Given the description of an element on the screen output the (x, y) to click on. 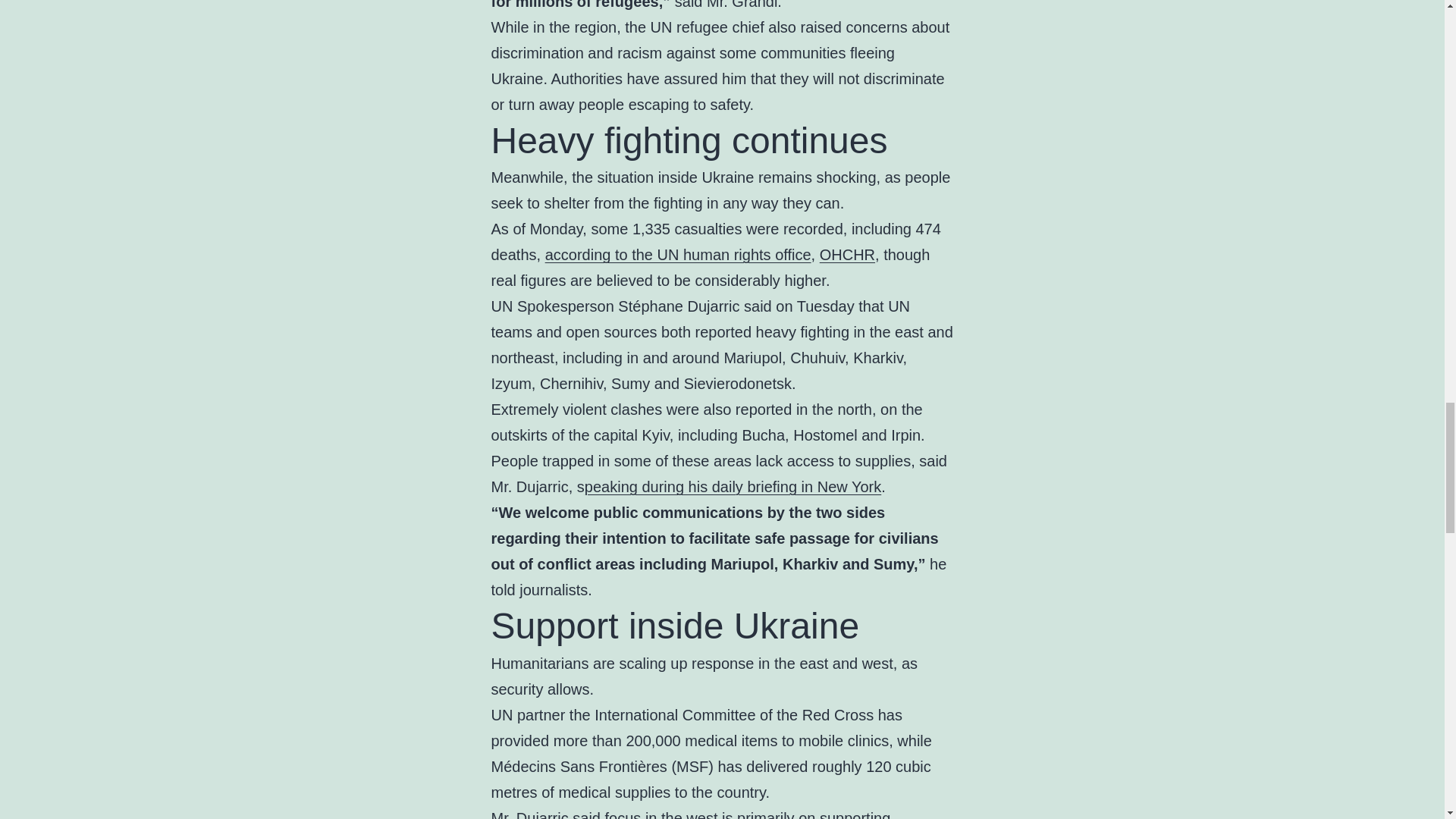
OHCHR (847, 254)
according to the UN human rights office (677, 254)
Office of the UN High Commissioner for Human Rights (847, 254)
peaking during his daily briefing in New York (732, 486)
